Given the description of an element on the screen output the (x, y) to click on. 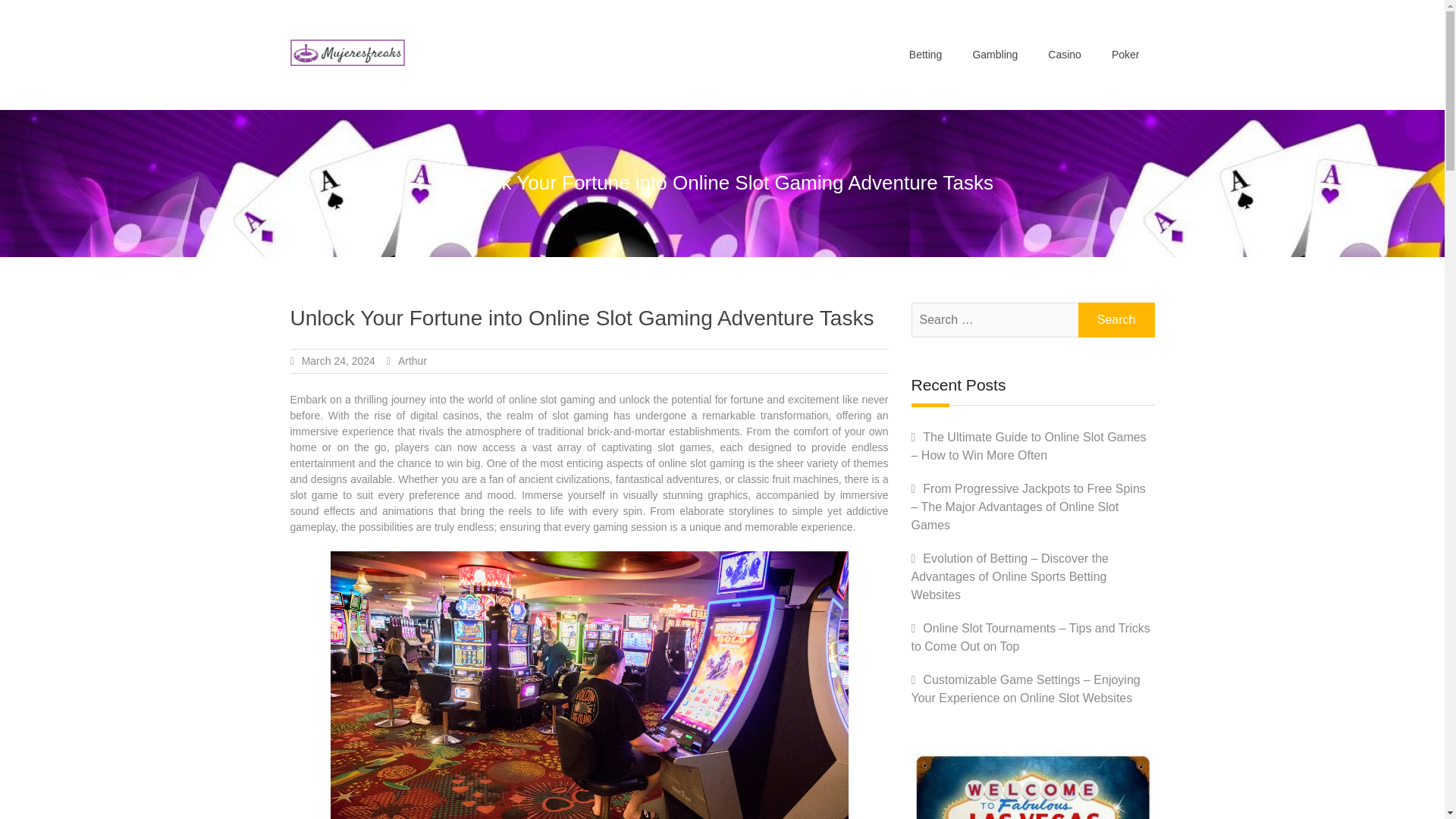
Poker (1125, 55)
Betting (925, 55)
Search (1116, 319)
Arthur (411, 360)
Gambling (994, 55)
Casino (1064, 55)
March 24, 2024 (338, 360)
Search (1116, 319)
Search (1116, 319)
